Given the description of an element on the screen output the (x, y) to click on. 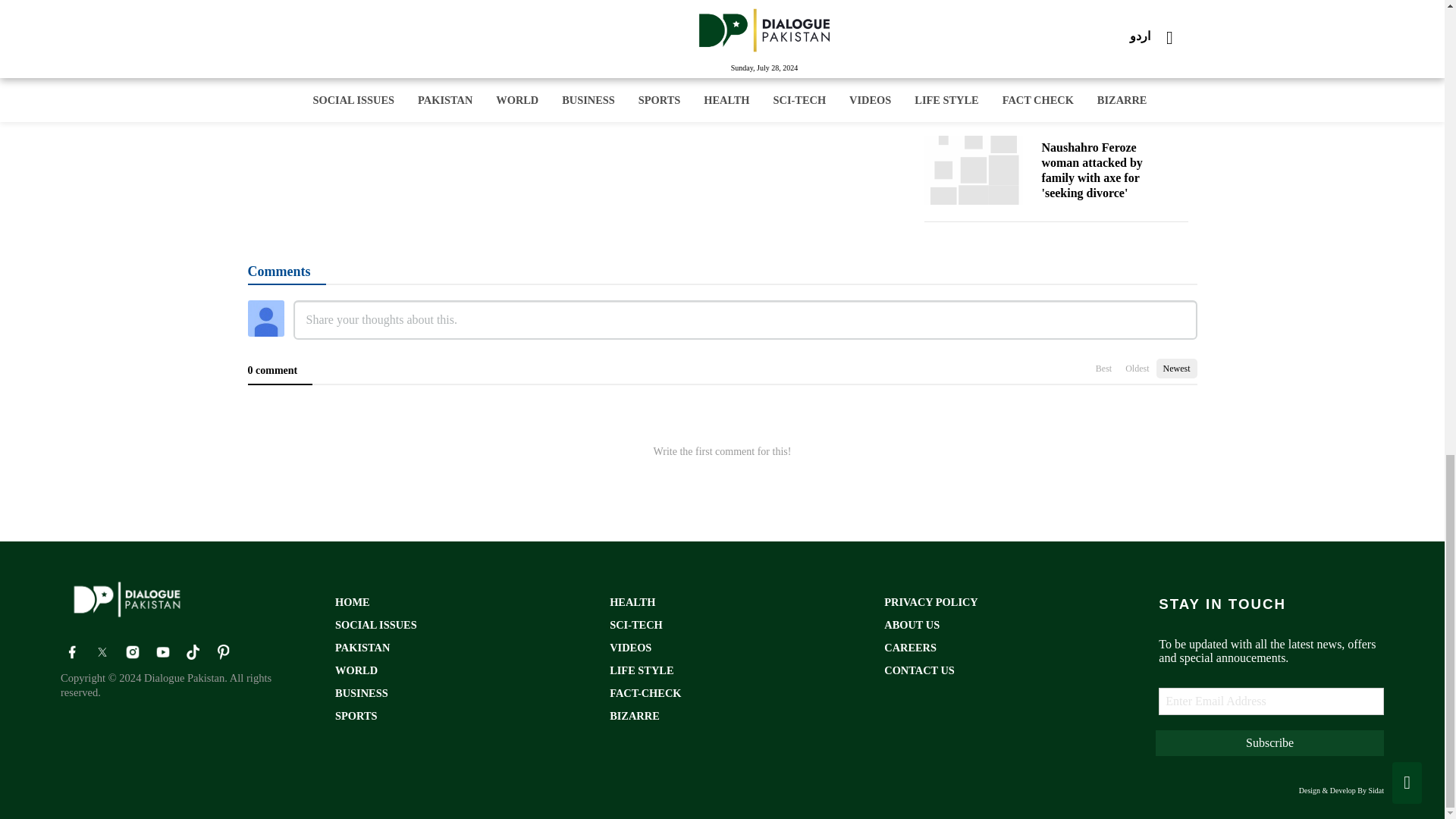
Subscribe (1270, 742)
